Given the description of an element on the screen output the (x, y) to click on. 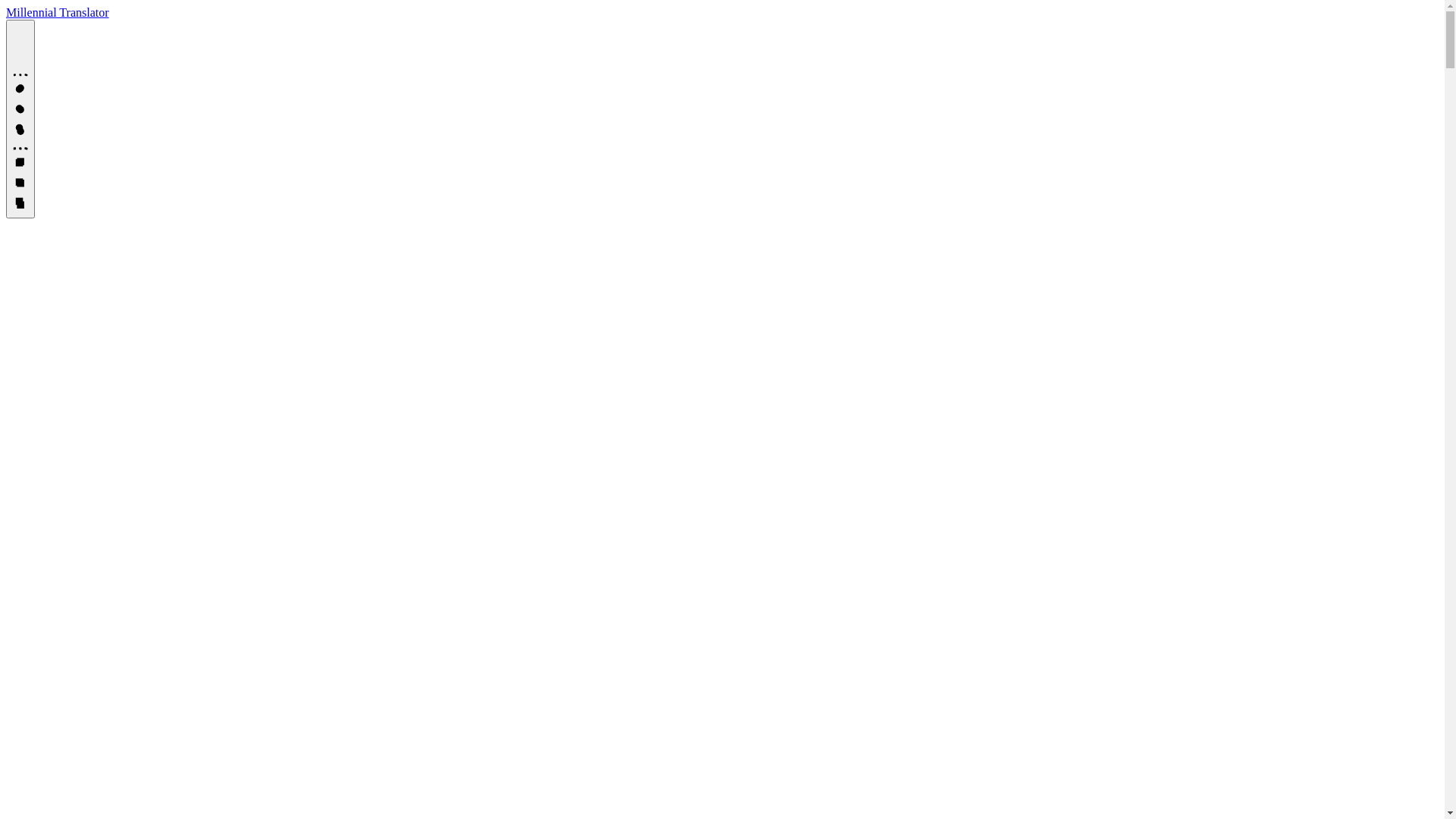
Millennial Translator Element type: text (57, 12)
